Given the description of an element on the screen output the (x, y) to click on. 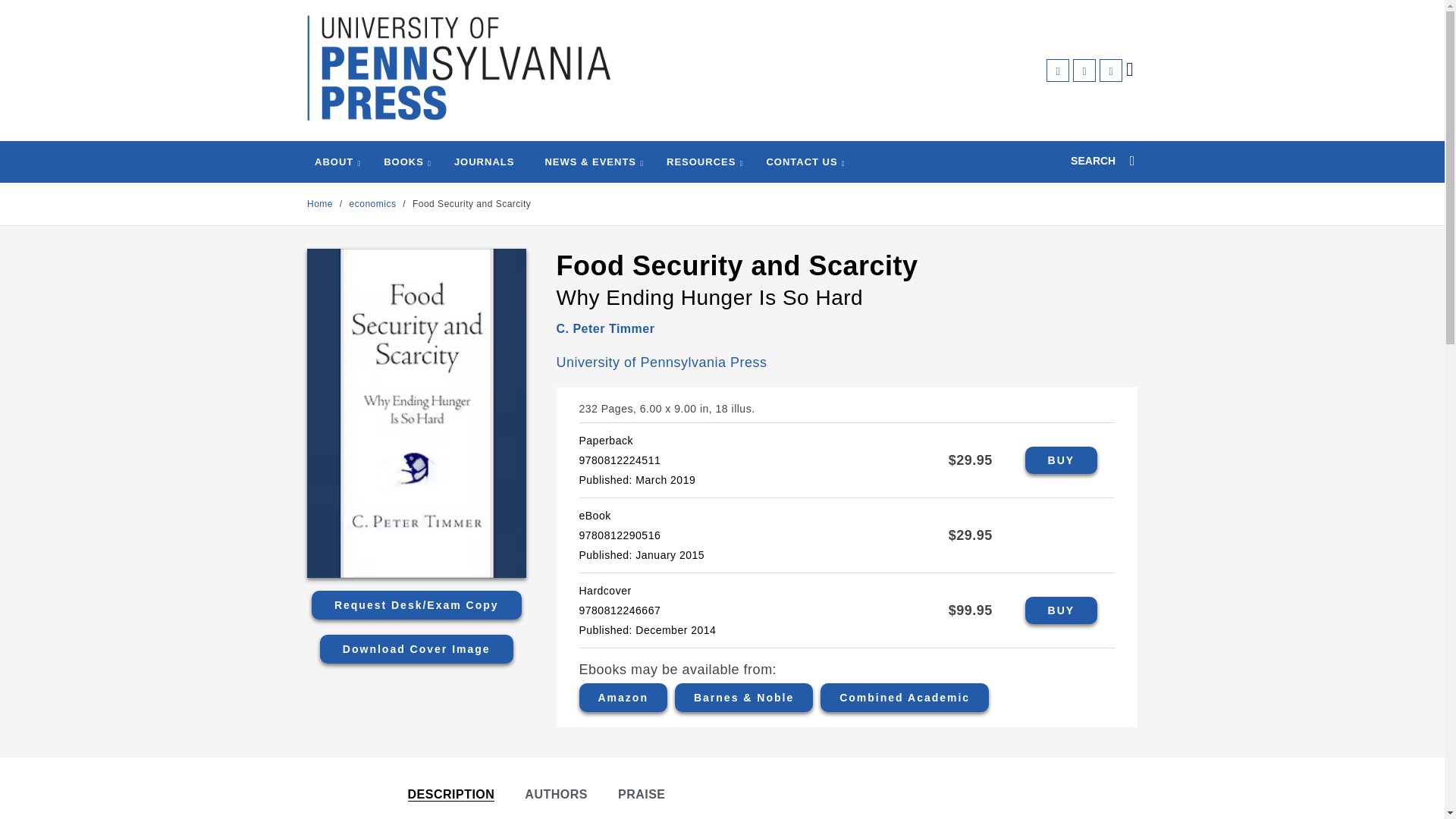
Follow us on Facebook (1057, 69)
View results for economics (372, 204)
RESOURCES (700, 161)
Follow us on Instagram (1110, 69)
Combined Academic (904, 697)
BOOKS (403, 161)
ABOUT (333, 161)
Paperback (1061, 460)
Amazon (622, 697)
Back to homepage (320, 204)
Hardcover (1061, 610)
JOURNALS (484, 161)
